Given the description of an element on the screen output the (x, y) to click on. 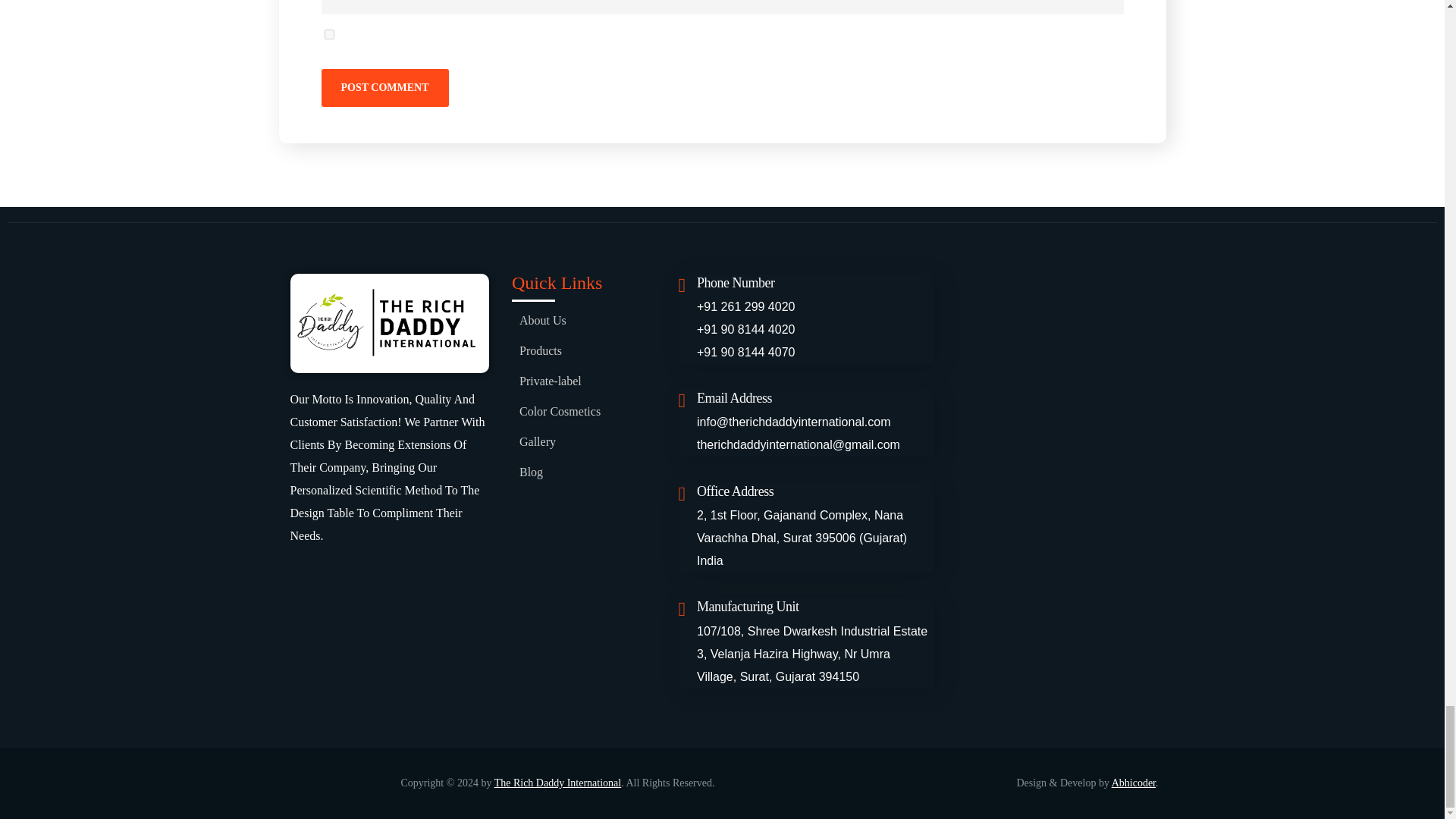
yes (329, 34)
The Rich daddy (1054, 361)
Post Comment (384, 87)
